Given the description of an element on the screen output the (x, y) to click on. 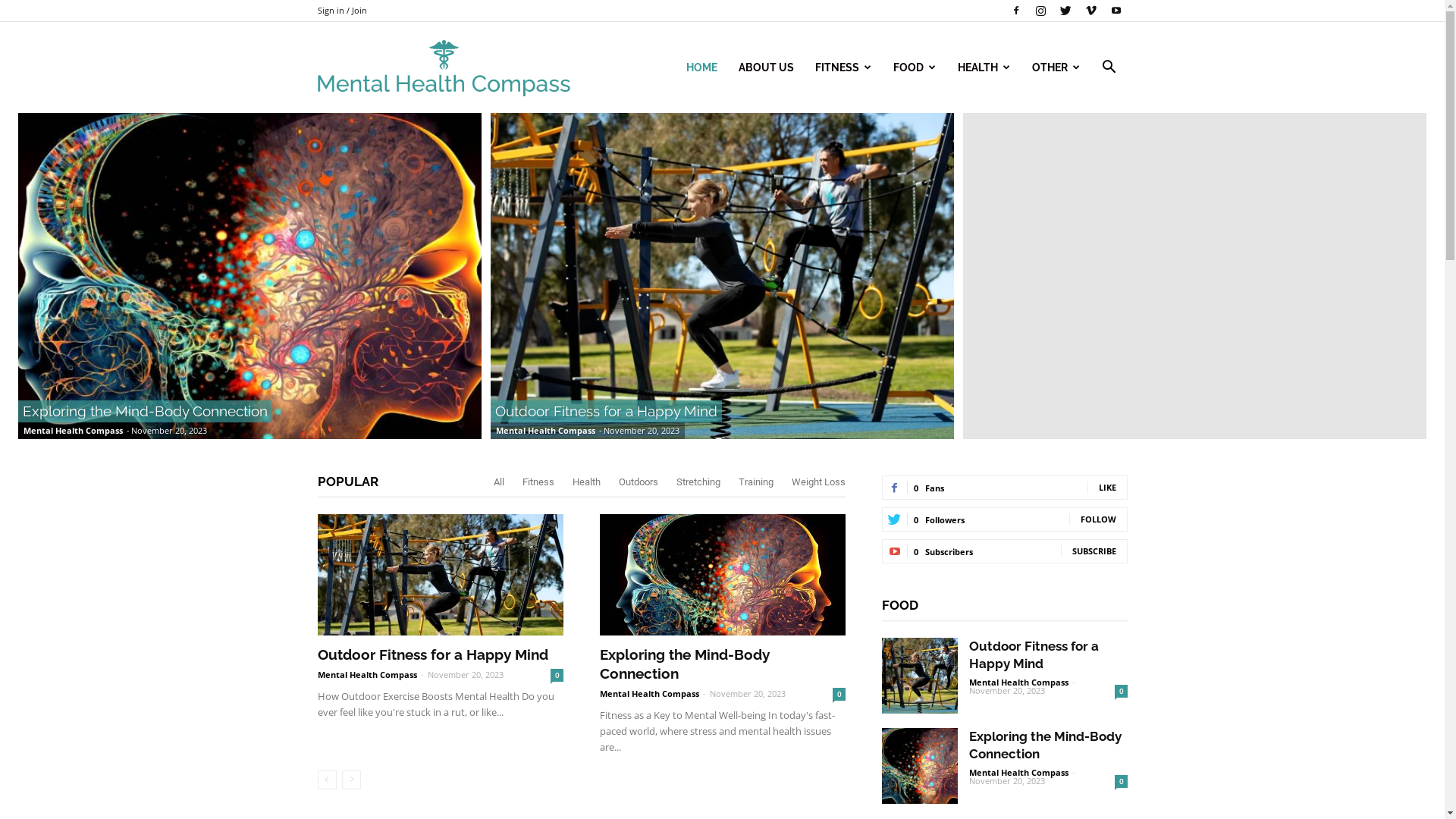
Mental Health Compass Element type: text (648, 693)
0 Element type: text (838, 693)
Mental Health Compass Element type: text (1018, 772)
Twitter Element type: hover (1065, 10)
Outdoor Fitness for a Happy Mind Element type: hover (439, 574)
0 Element type: text (556, 674)
Exploring the Mind-Body Connection Element type: text (1045, 744)
Exploring the Mind-Body Connection Element type: hover (721, 574)
Mental Health Compass Element type: text (442, 67)
Instagram Element type: hover (1040, 10)
Outdoor Fitness for a Happy Mind Element type: text (606, 410)
Mental Health Compass Element type: text (1018, 681)
Outdoor Fitness for a Happy Mind Element type: hover (919, 675)
Outdoor Fitness for a Happy Mind Element type: hover (721, 275)
Facebook Element type: hover (1015, 10)
Outdoors Element type: text (638, 481)
OTHER Element type: text (1055, 67)
FOOD Element type: text (914, 67)
Outdoor Fitness for a Happy Mind Element type: text (1033, 654)
Stretching Element type: text (698, 481)
Mental Health Compass Element type: text (72, 430)
Exploring the Mind-Body Connection Element type: hover (919, 765)
Training Element type: text (755, 481)
HOME Element type: text (700, 67)
Search Element type: text (1085, 140)
Mental Health Compass Logo Element type: hover (442, 67)
Vimeo Element type: hover (1090, 10)
All Element type: text (497, 481)
FOLLOW Element type: text (1097, 518)
LIKE Element type: text (1106, 486)
SUBSCRIBE Element type: text (1094, 550)
ABOUT US Element type: text (766, 67)
Fitness Element type: text (537, 481)
FITNESS Element type: text (842, 67)
Sign in / Join Element type: text (341, 9)
Exploring the Mind-Body Connection Element type: text (144, 410)
Mental Health Compass Element type: text (545, 430)
0 Element type: text (1120, 690)
Mental Health Compass Element type: text (366, 674)
Outdoor Fitness for a Happy Mind Element type: text (431, 654)
Health Element type: text (585, 481)
Exploring the Mind-Body Connection Element type: text (683, 663)
0 Element type: text (1120, 781)
Weight Loss Element type: text (818, 481)
Youtube Element type: hover (1115, 10)
Exploring the Mind-Body Connection Element type: hover (249, 275)
HEALTH Element type: text (983, 67)
